Given the description of an element on the screen output the (x, y) to click on. 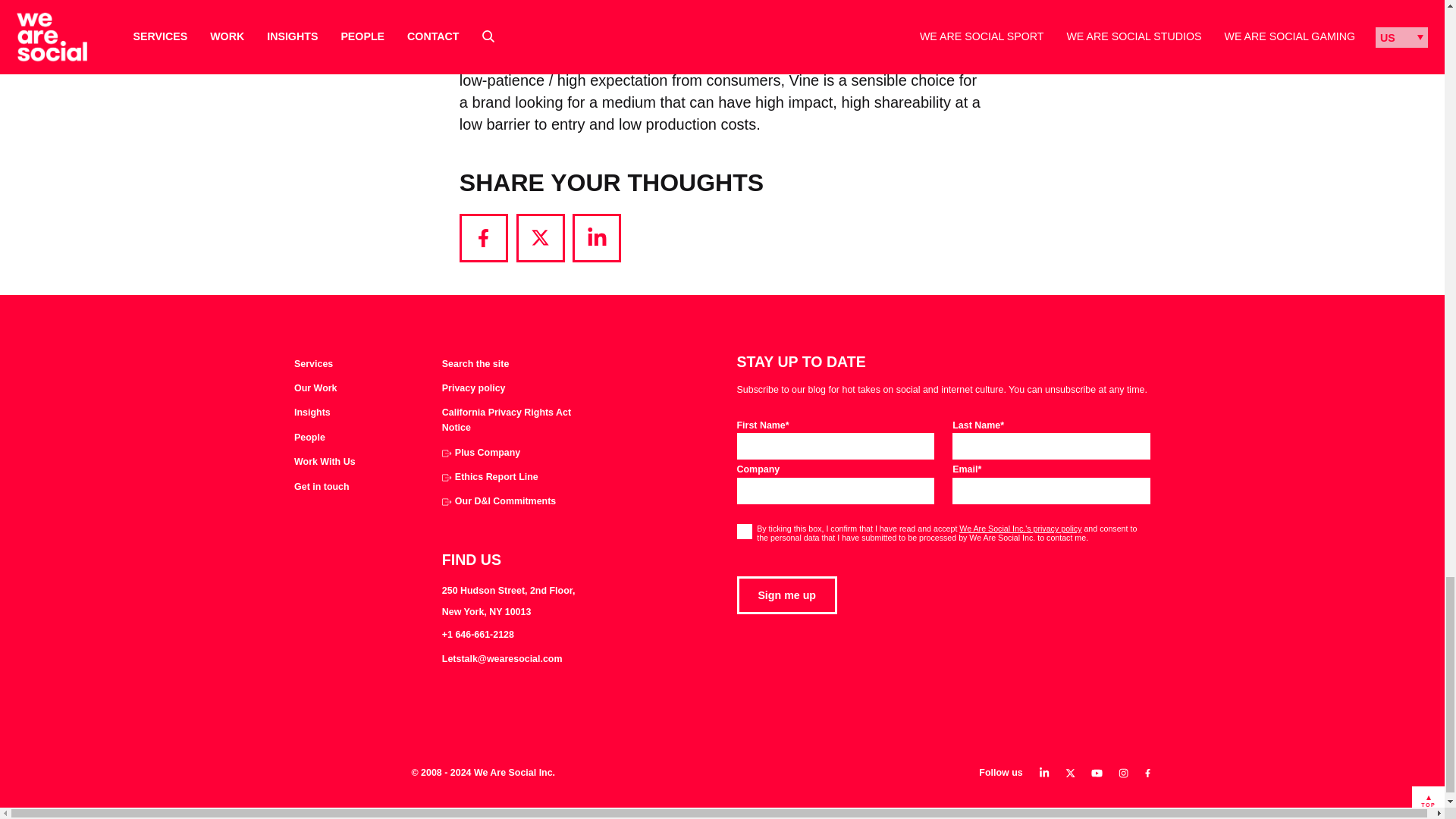
About (309, 437)
Services (313, 364)
Share via Twitter (540, 237)
Our Work (315, 388)
California Privacy Rights Act Notice (510, 420)
Work With Us (324, 462)
Share via Facebook (484, 237)
Work (315, 388)
We Are Social Inc.'s privacy policy (1020, 528)
Ethics Report Line (490, 477)
Share via Twitter (540, 237)
People (309, 437)
Get in Touch (321, 487)
Share via Facebook (484, 237)
